Given the description of an element on the screen output the (x, y) to click on. 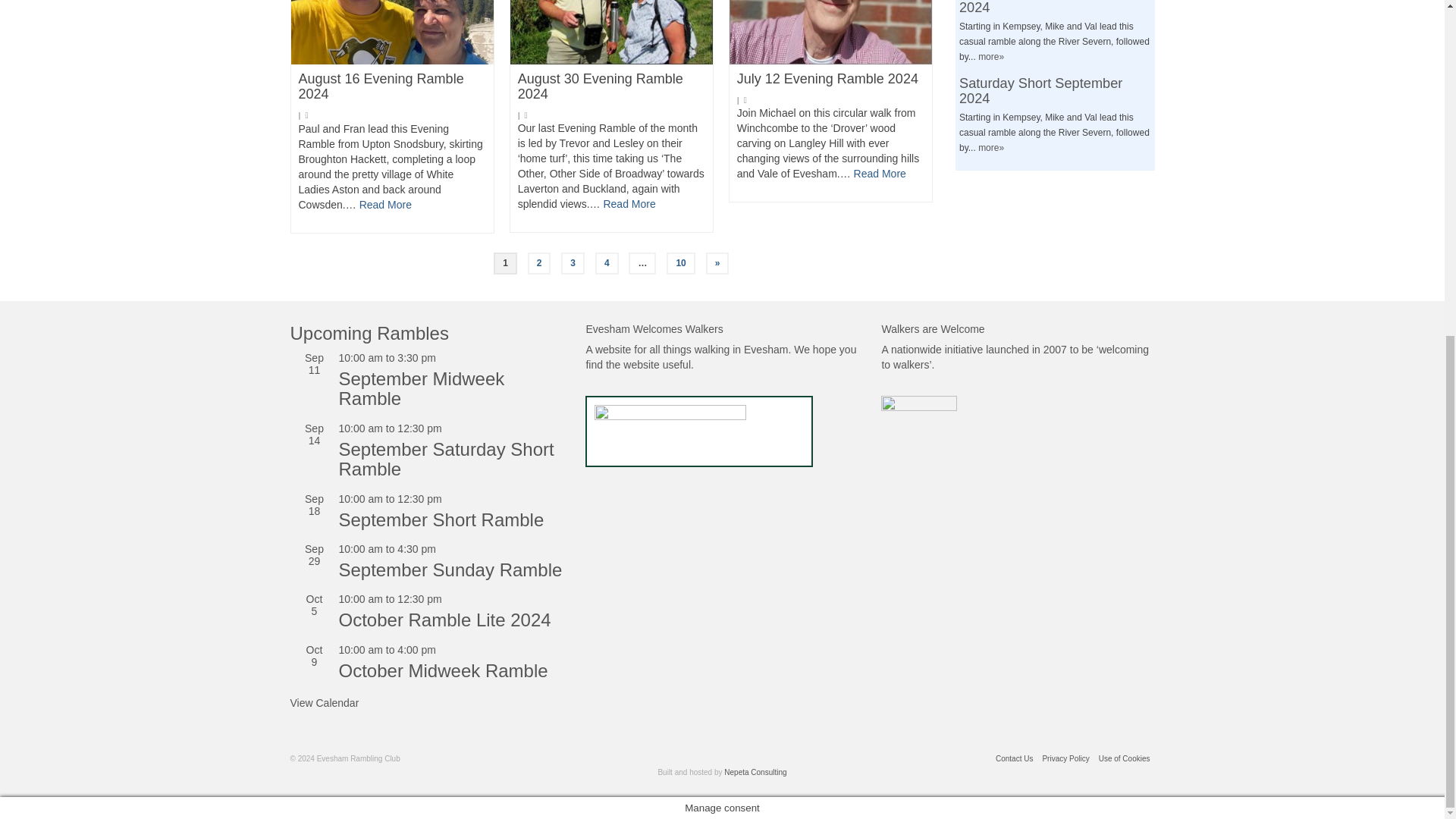
October Ramble Lite 2024 (443, 619)
September Saturday Short Ramble (445, 458)
Saturday Short September 2024 (1040, 91)
Saturday Short September 2024 (1040, 7)
September Midweek Ramble (420, 388)
September Sunday Ramble (449, 569)
September Short Ramble (440, 519)
